Given the description of an element on the screen output the (x, y) to click on. 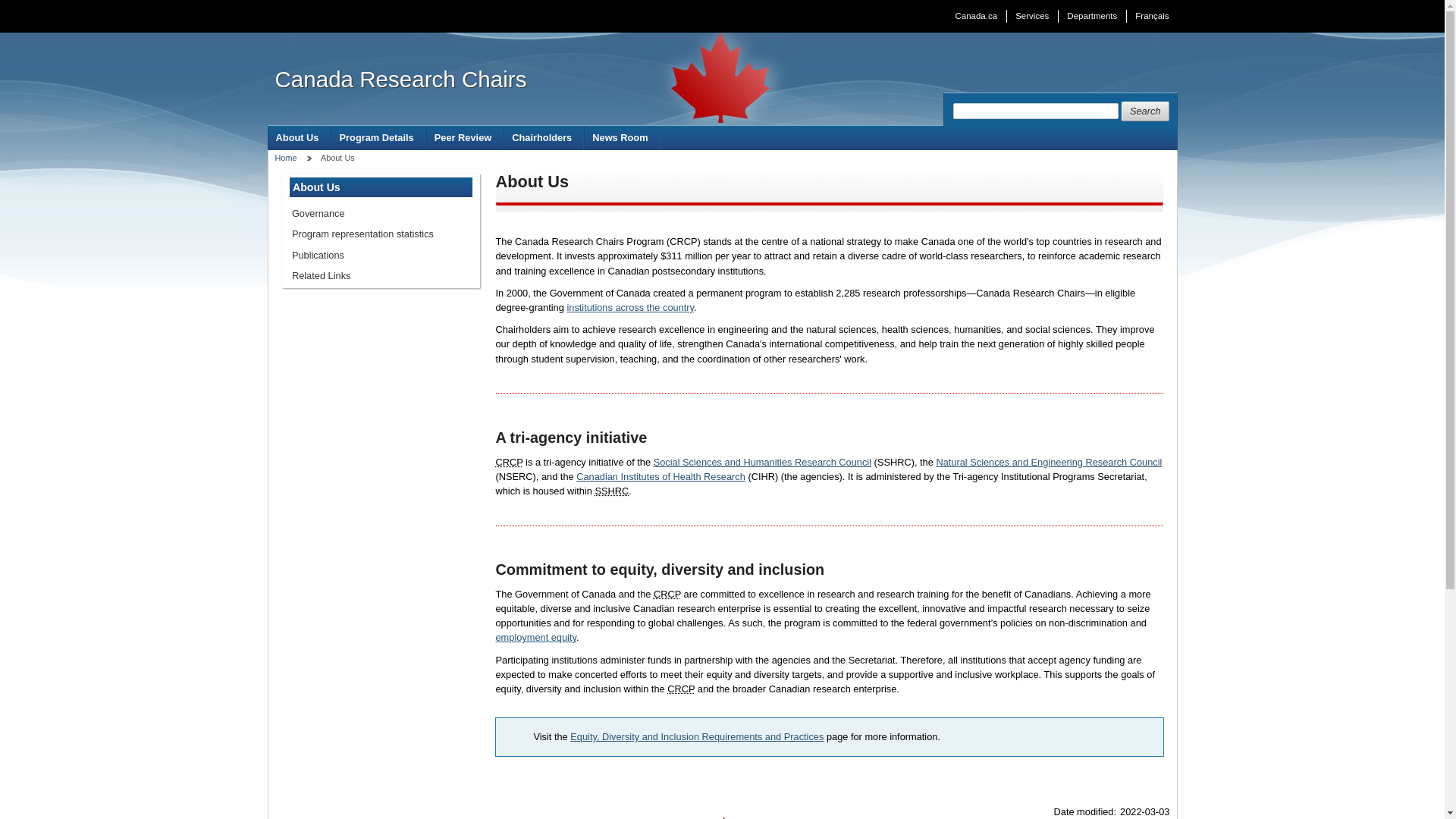
Chairholders (543, 137)
Search (1145, 111)
Search (1145, 111)
Canada Research Chairs Program (680, 688)
Canada Research Chairs Program (509, 461)
Publications (381, 254)
Program representation statistics (381, 233)
News Room (622, 137)
Home (286, 157)
About Us (298, 137)
Canada Research Chairs Program (667, 593)
Related Links (381, 275)
Canada.ca (976, 15)
Departments (1091, 15)
Canada Research Chairs (400, 79)
